Given the description of an element on the screen output the (x, y) to click on. 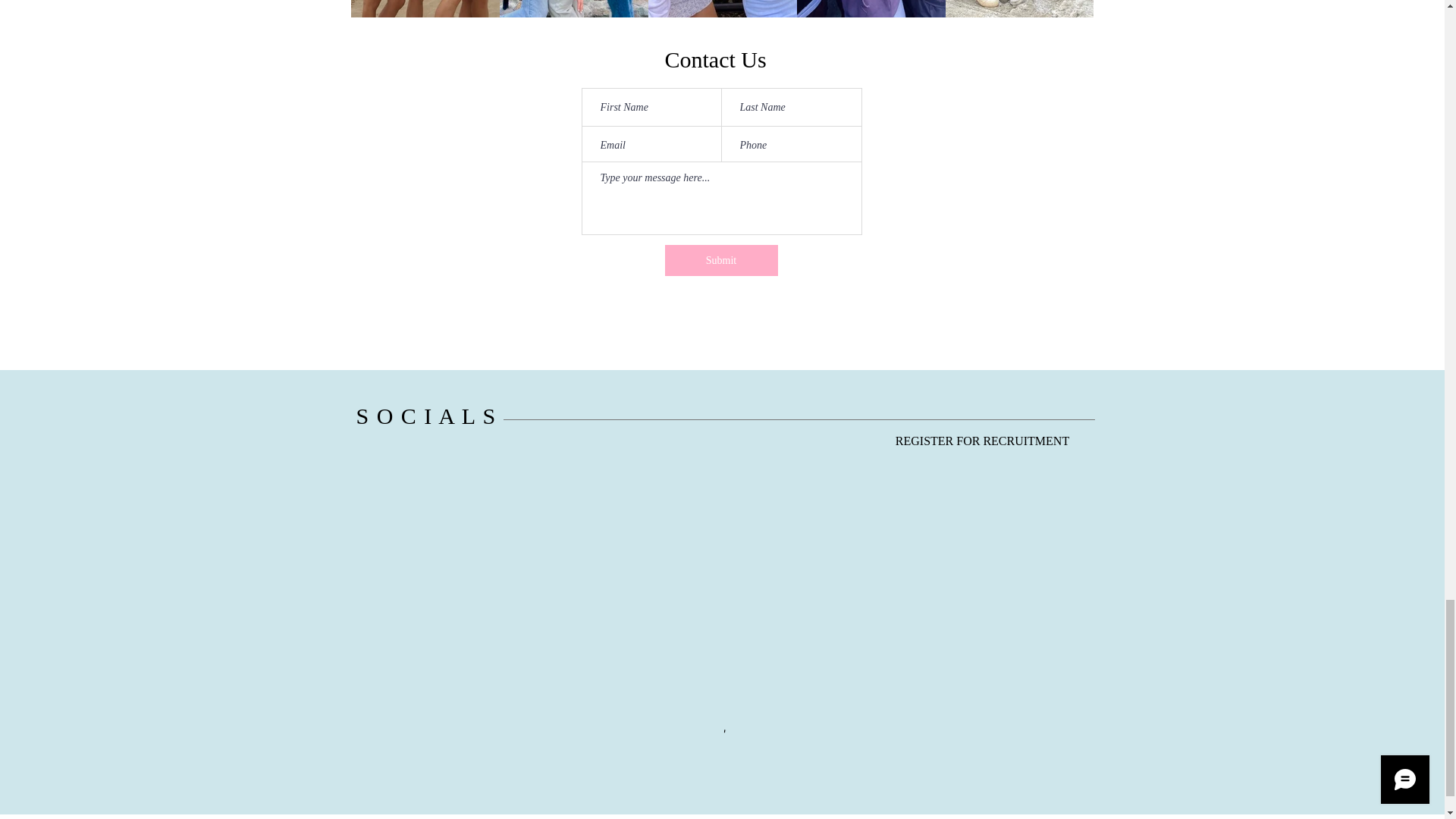
S O C I A L S (426, 415)
REGISTER FOR RECRUITMENT (981, 441)
Submit (720, 260)
